Given the description of an element on the screen output the (x, y) to click on. 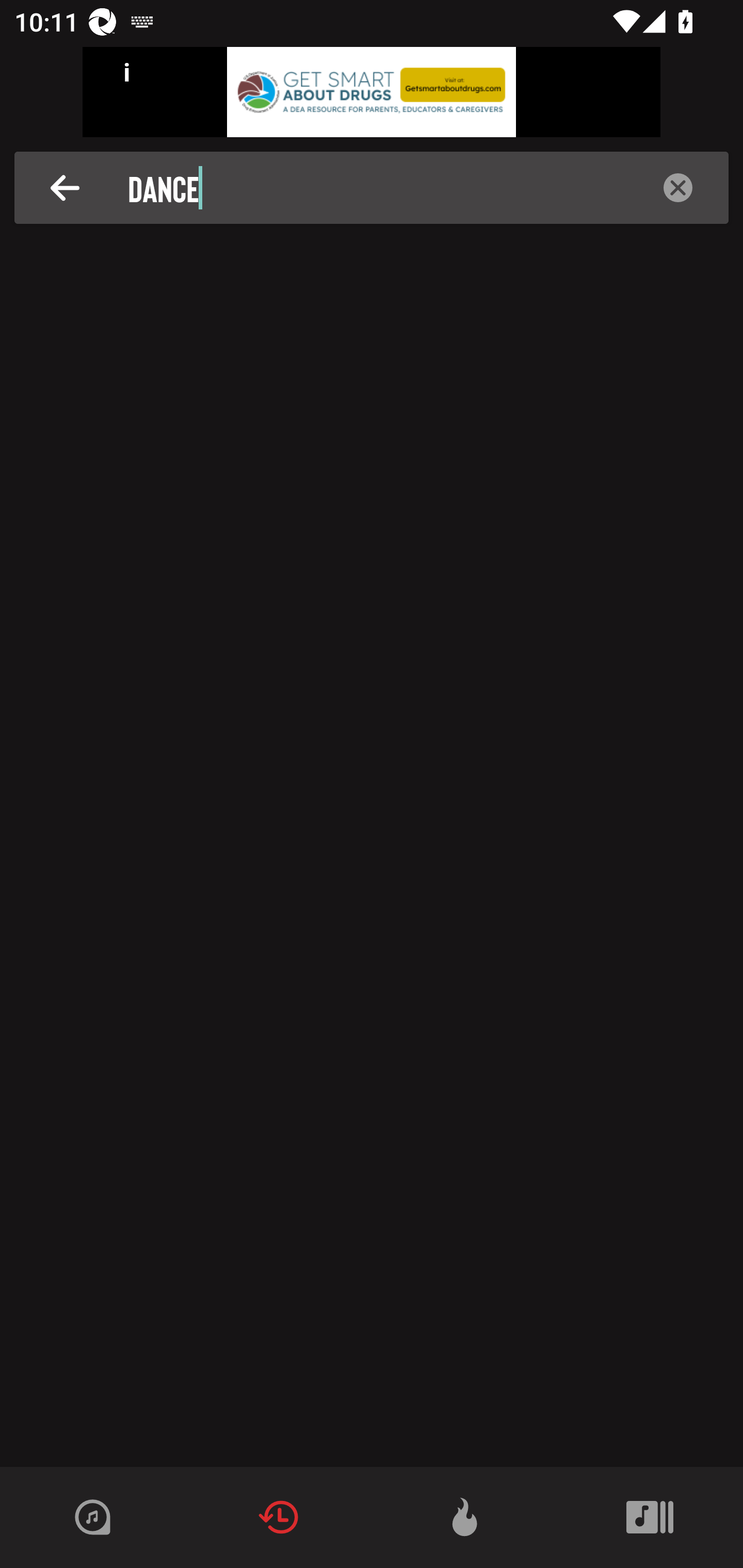
Dance (377, 188)
Description (64, 188)
Description (677, 188)
